Given the description of an element on the screen output the (x, y) to click on. 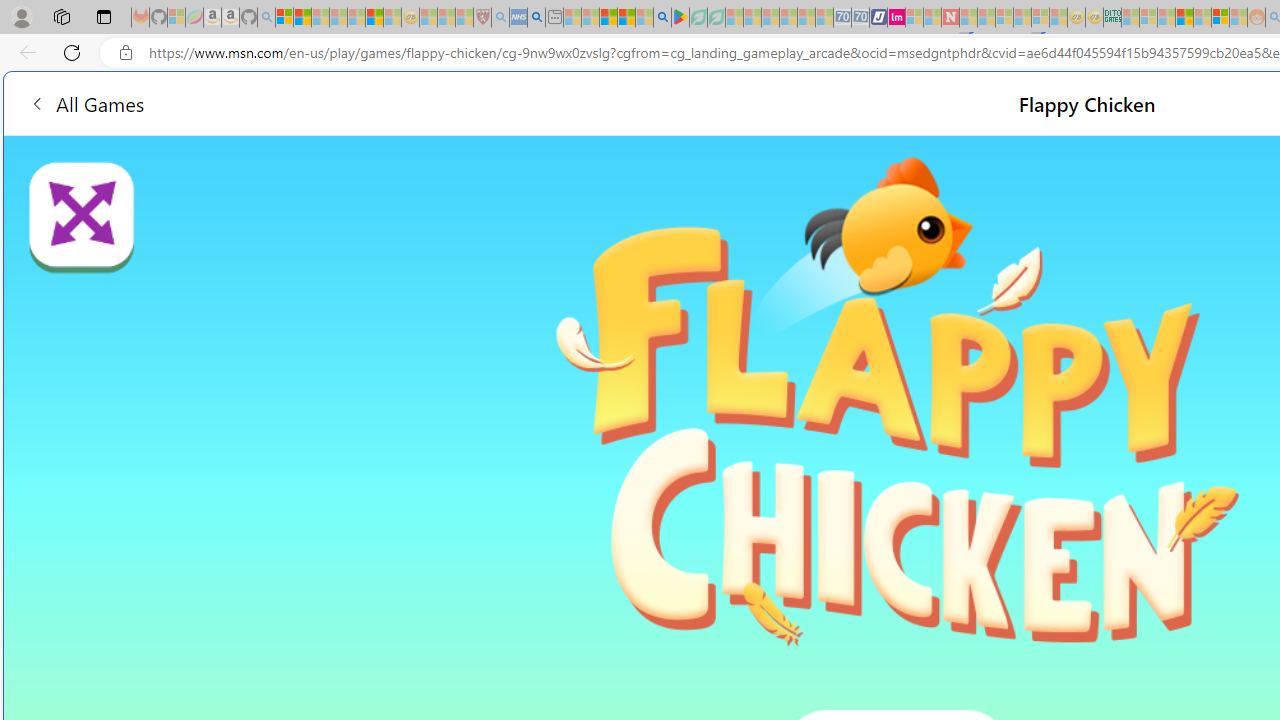
All Games (380, 102)
Bluey: Let's Play! - Apps on Google Play (680, 17)
